Given the description of an element on the screen output the (x, y) to click on. 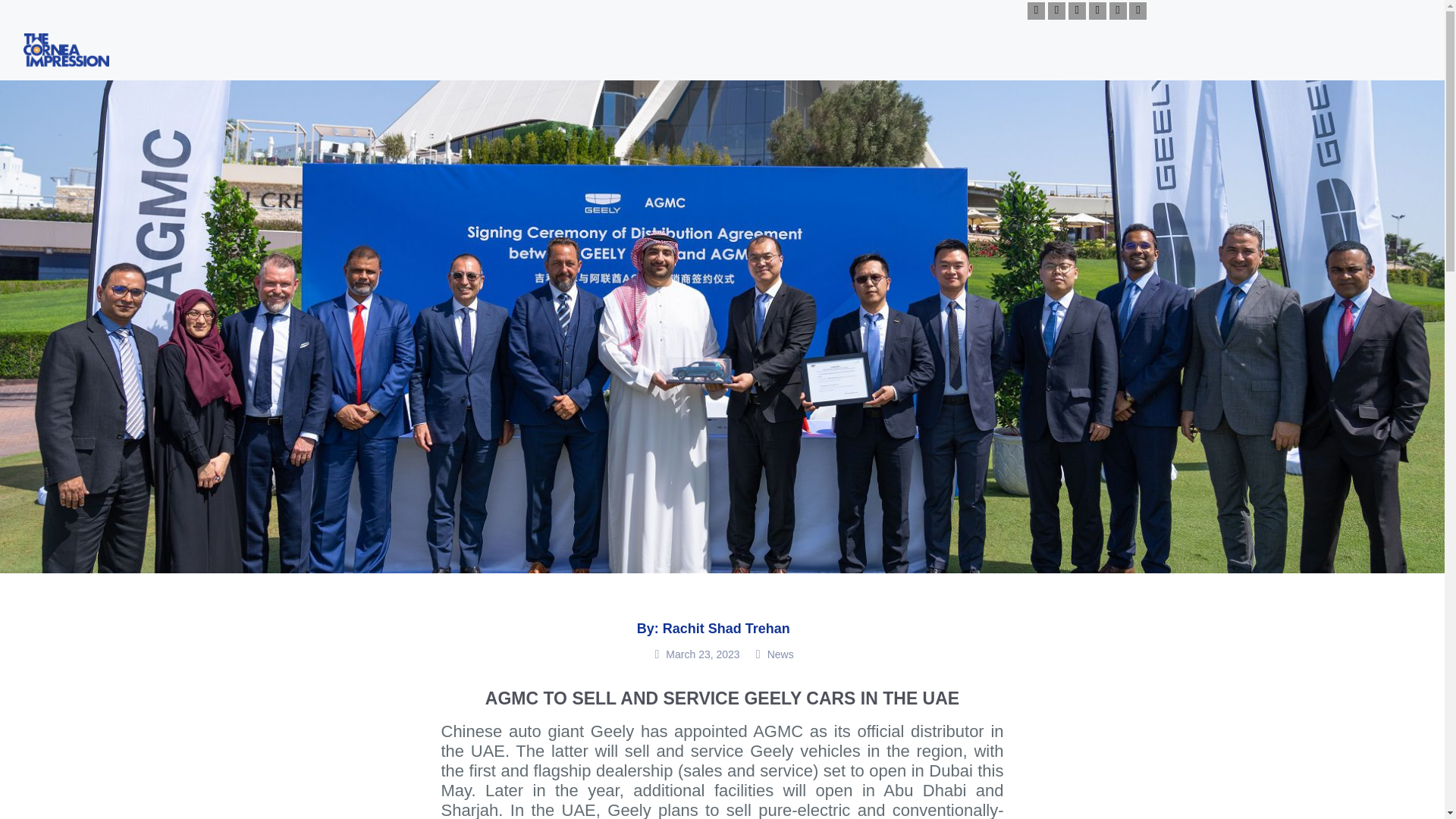
Instagram (1056, 10)
Twitter (1077, 10)
Youtube (1036, 10)
Facebook (1117, 10)
Email (1138, 10)
Facebook (1097, 10)
